Given the description of an element on the screen output the (x, y) to click on. 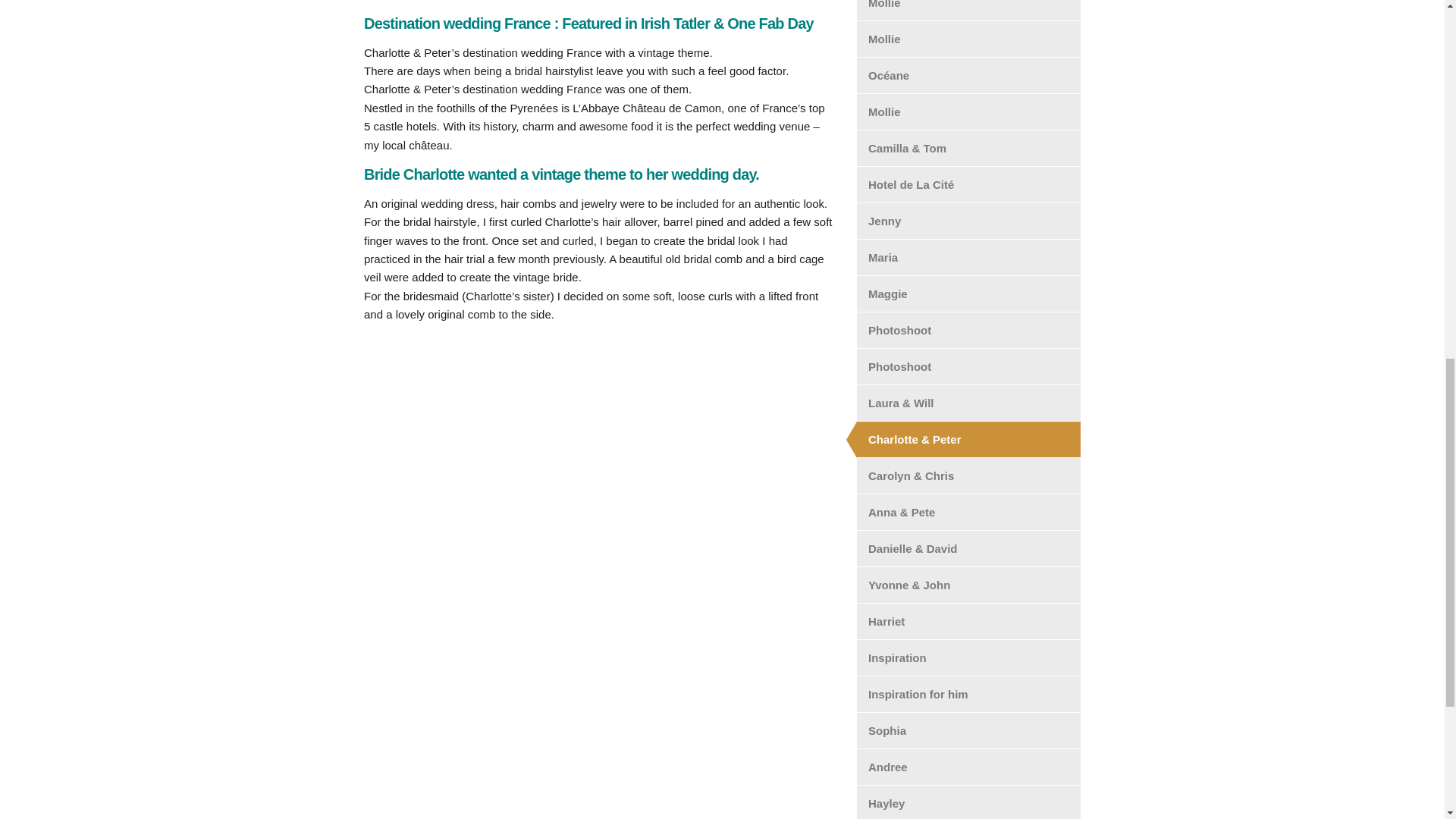
Mollie (968, 10)
Maria (968, 257)
Photoshoot (968, 330)
Photoshoot (968, 366)
Mollie (968, 111)
Mollie (968, 38)
Maggie (968, 294)
Jenny (968, 221)
